Given the description of an element on the screen output the (x, y) to click on. 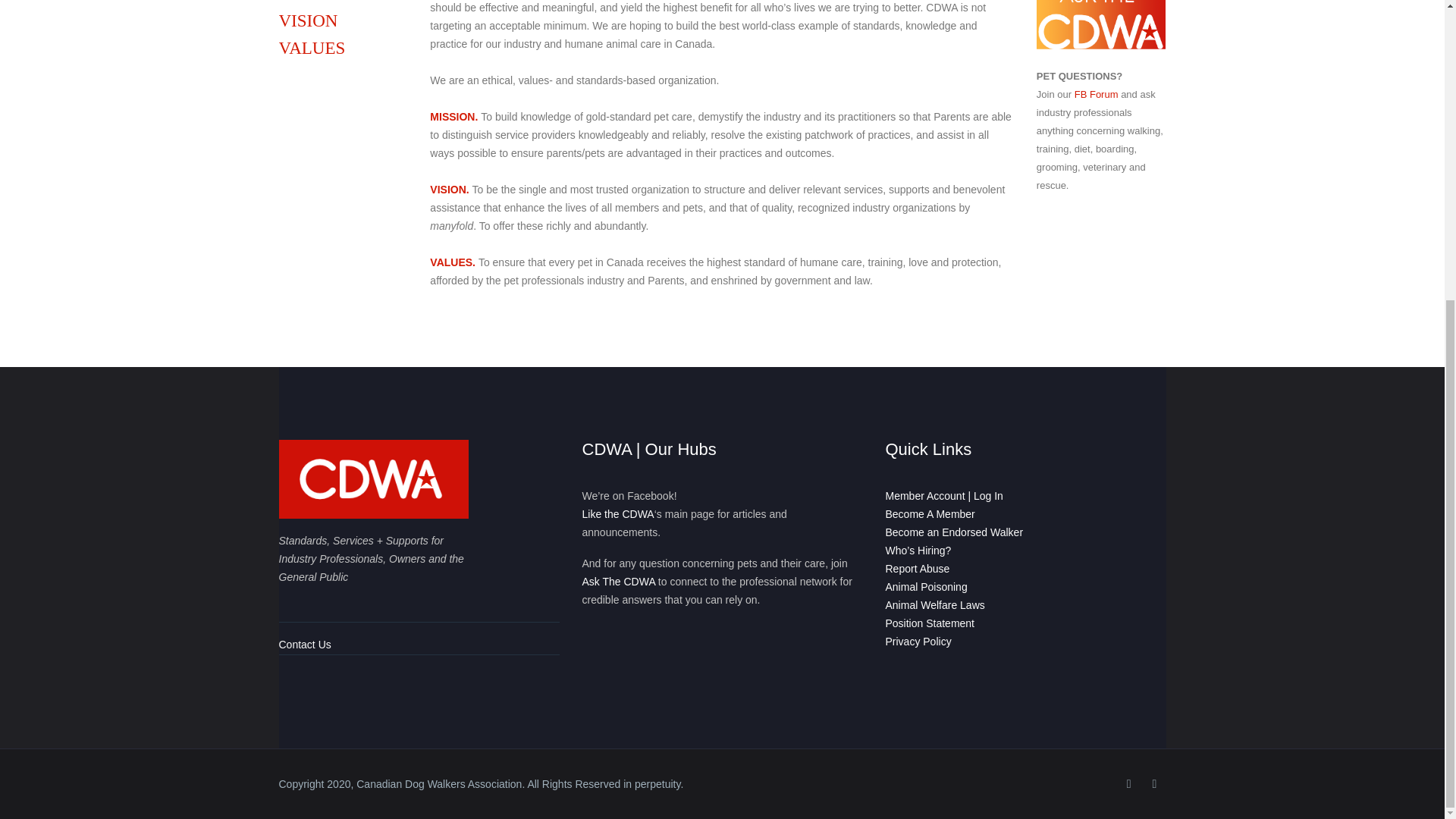
Contact Us (305, 644)
FB Forum (1096, 93)
Like the CDWA (617, 513)
Report Abuse (917, 568)
Become A Member (930, 513)
Ask The CDWA (618, 581)
Animal Welfare Laws (935, 604)
Animal Poisoning (926, 586)
Become an Endorsed Walker (954, 532)
